Given the description of an element on the screen output the (x, y) to click on. 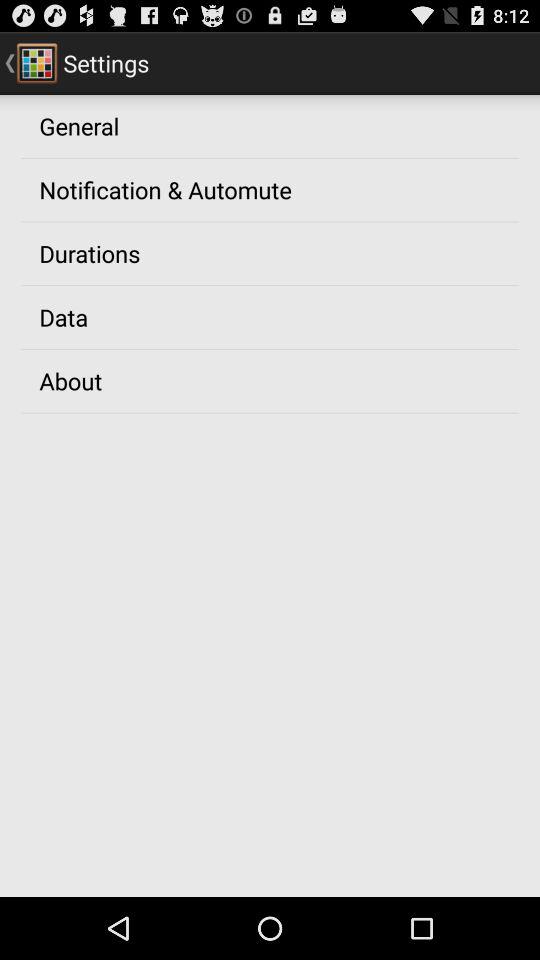
jump until durations app (89, 253)
